Given the description of an element on the screen output the (x, y) to click on. 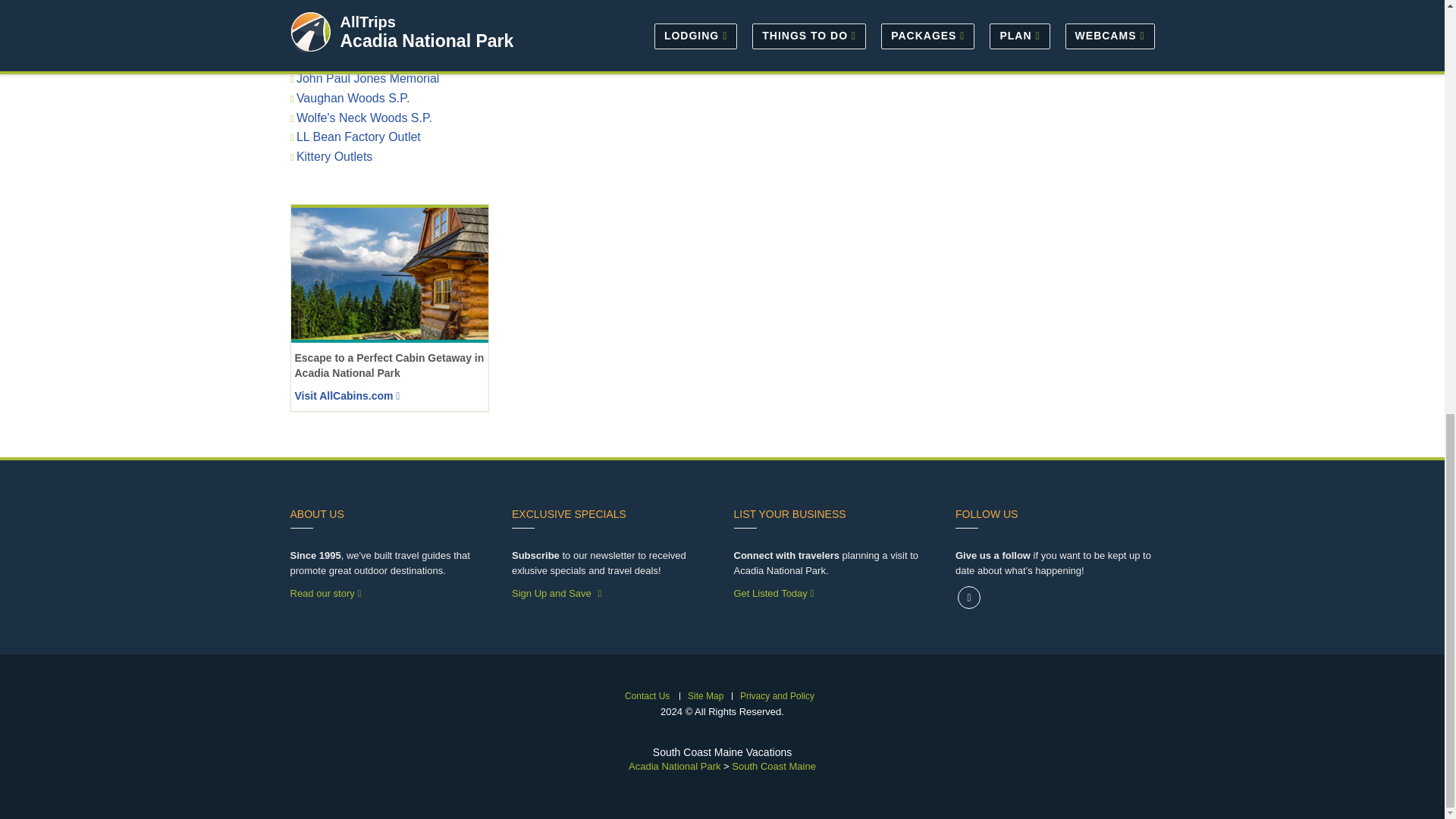
South Coast Maine (773, 766)
Acadia National Park (674, 766)
